Given the description of an element on the screen output the (x, y) to click on. 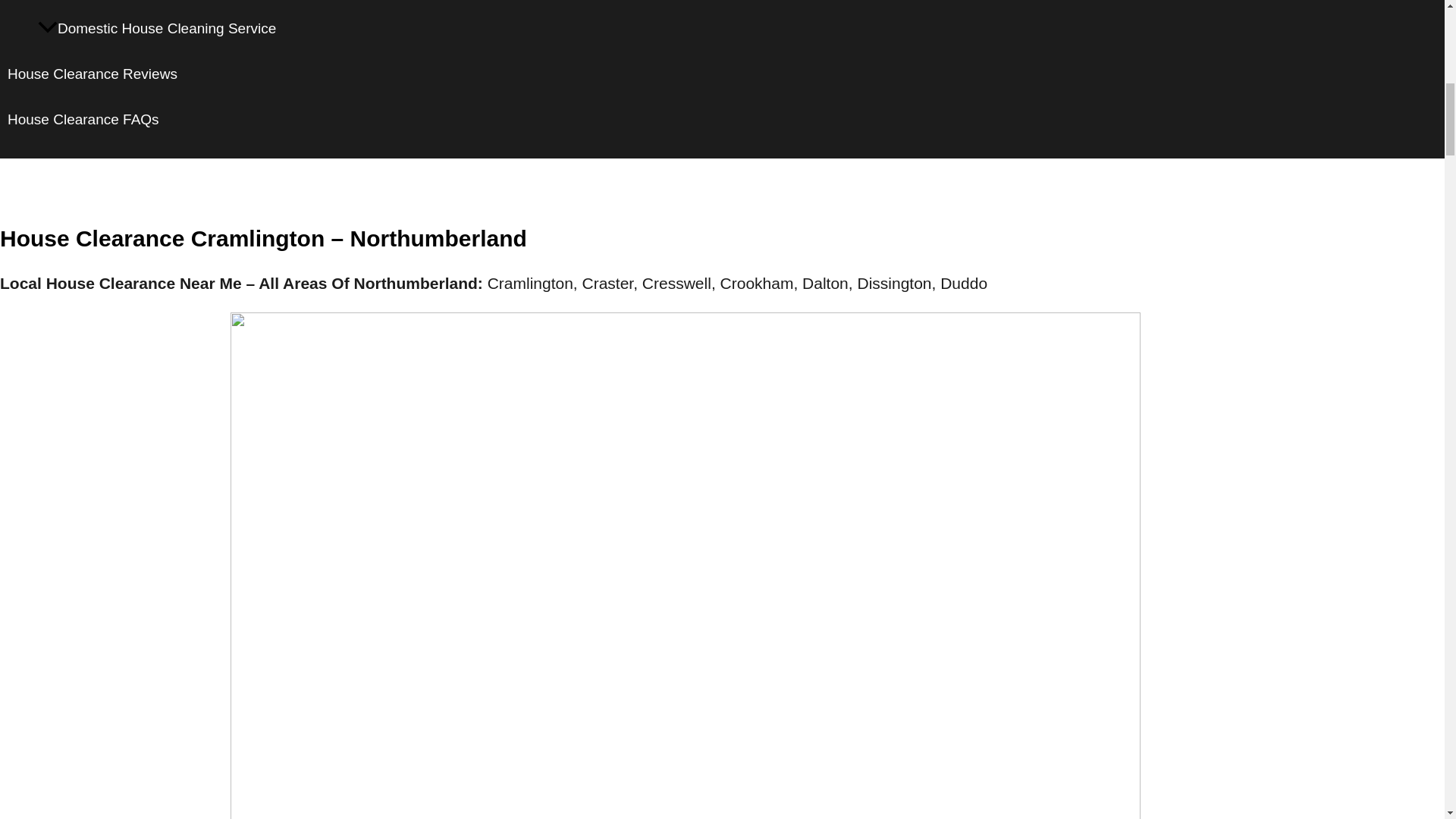
House Clearance FAQs (192, 119)
Domestic House Cleaning Service (207, 28)
Verminous House Clearance (207, 2)
House Clearance Reviews (192, 74)
